Given the description of an element on the screen output the (x, y) to click on. 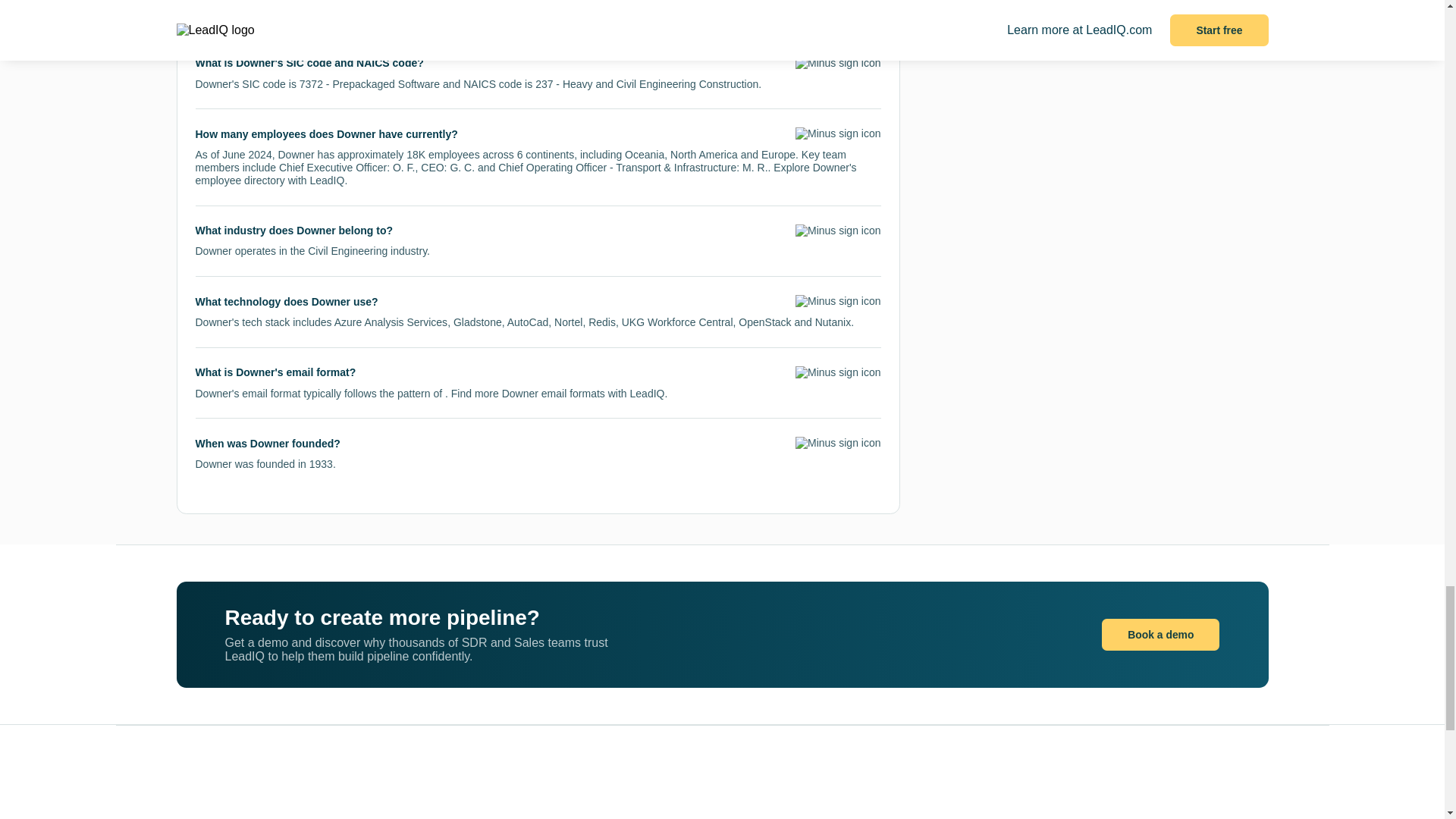
Find more Downer email formats (528, 393)
Downer's employee directory (526, 173)
